Given the description of an element on the screen output the (x, y) to click on. 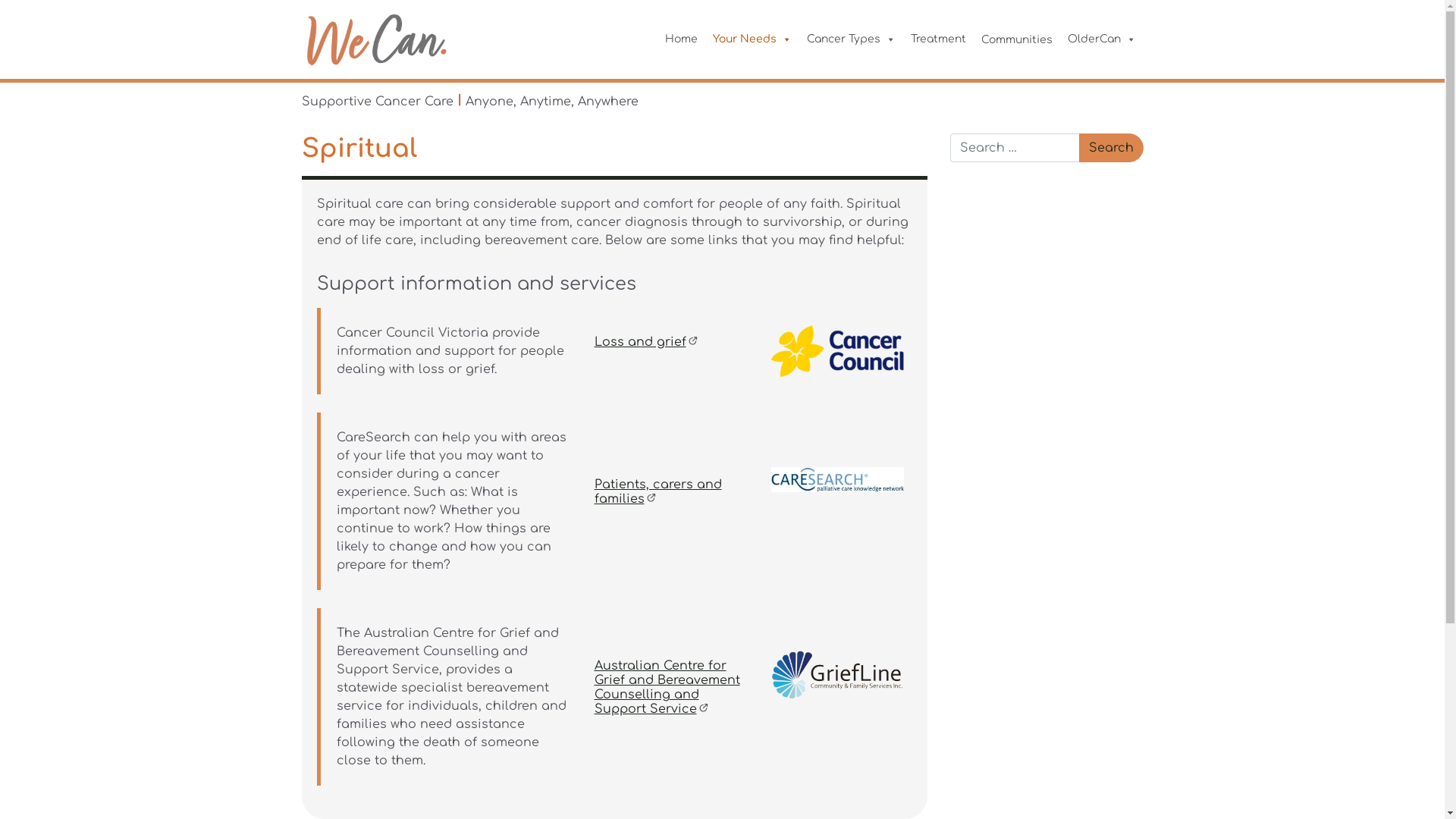
Loss and grief Element type: text (651, 341)
Communities Element type: text (1016, 39)
Cancer Types Element type: text (851, 39)
Your Needs Element type: text (752, 39)
Home Element type: text (680, 39)
OlderCan Element type: text (1101, 39)
Patients, carers and families Element type: text (657, 491)
Treatment Element type: text (937, 39)
Skip to content Element type: text (1443, 0)
Search Element type: text (1110, 147)
